Given the description of an element on the screen output the (x, y) to click on. 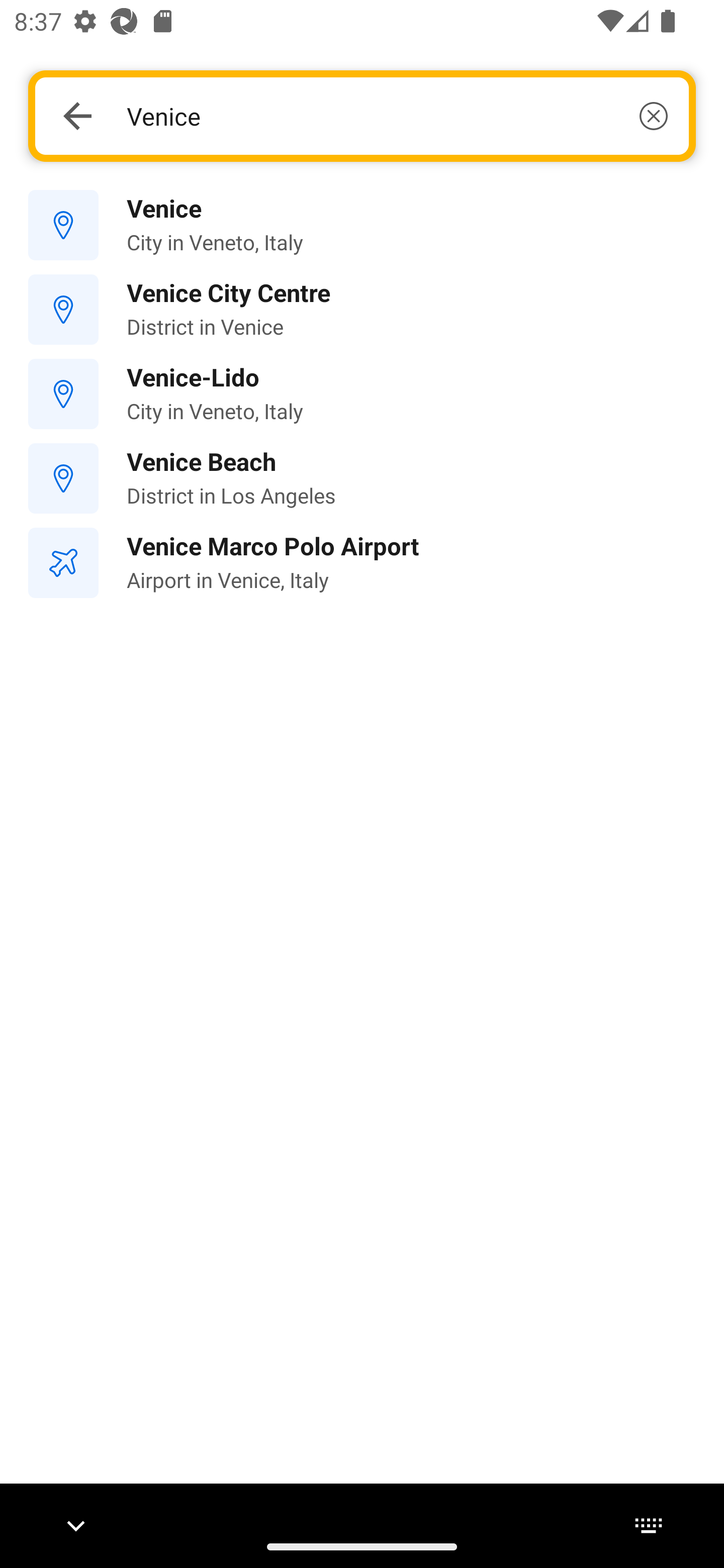
Venice (396, 115)
Venice City in Veneto, Italy (362, 225)
Venice City Centre District in Venice (362, 309)
Venice-Lido City in Veneto, Italy (362, 393)
Venice Beach District in Los Angeles (362, 477)
Venice Marco Polo Airport Airport in Venice, Italy (362, 562)
